Given the description of an element on the screen output the (x, y) to click on. 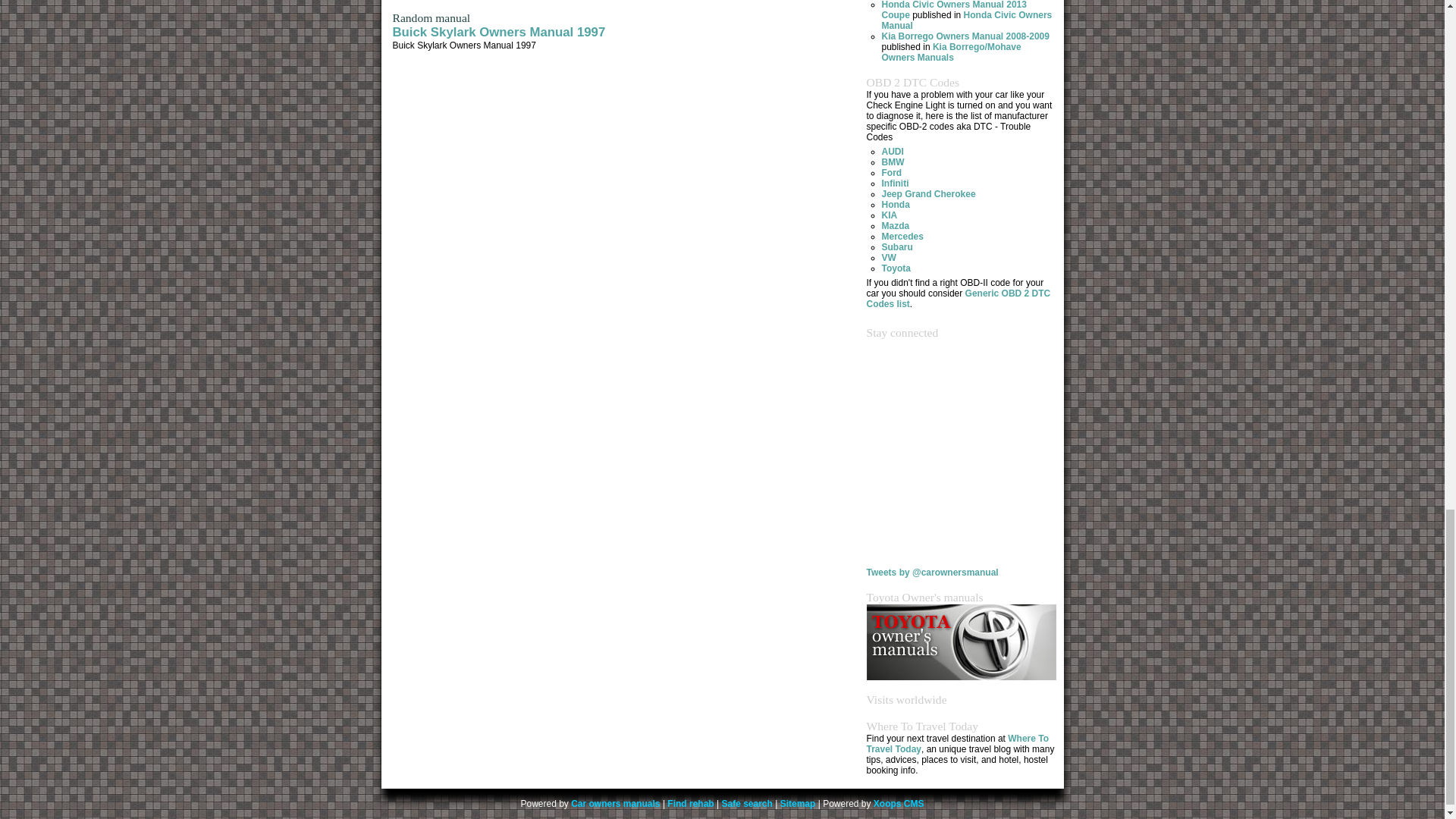
Mazda specific OBD-2 DTC list (894, 225)
Infiniti specific OBD-2 DTC list (894, 183)
Subaru specific OBD-2 DTC list (896, 246)
AUDI specific OBD-2 DTC list (891, 151)
Honda specific OBD-2 DTC list (894, 204)
Jeep Grand Cherokee specific OBD-2 DTC list (927, 194)
Kia specific OBD-2 DTC list (888, 214)
Mercedes specific OBD-2 DTC list (901, 235)
Toyota specific OBD-2 DTC list (895, 267)
Generic OBD 2 DTC codes list (957, 298)
